Given the description of an element on the screen output the (x, y) to click on. 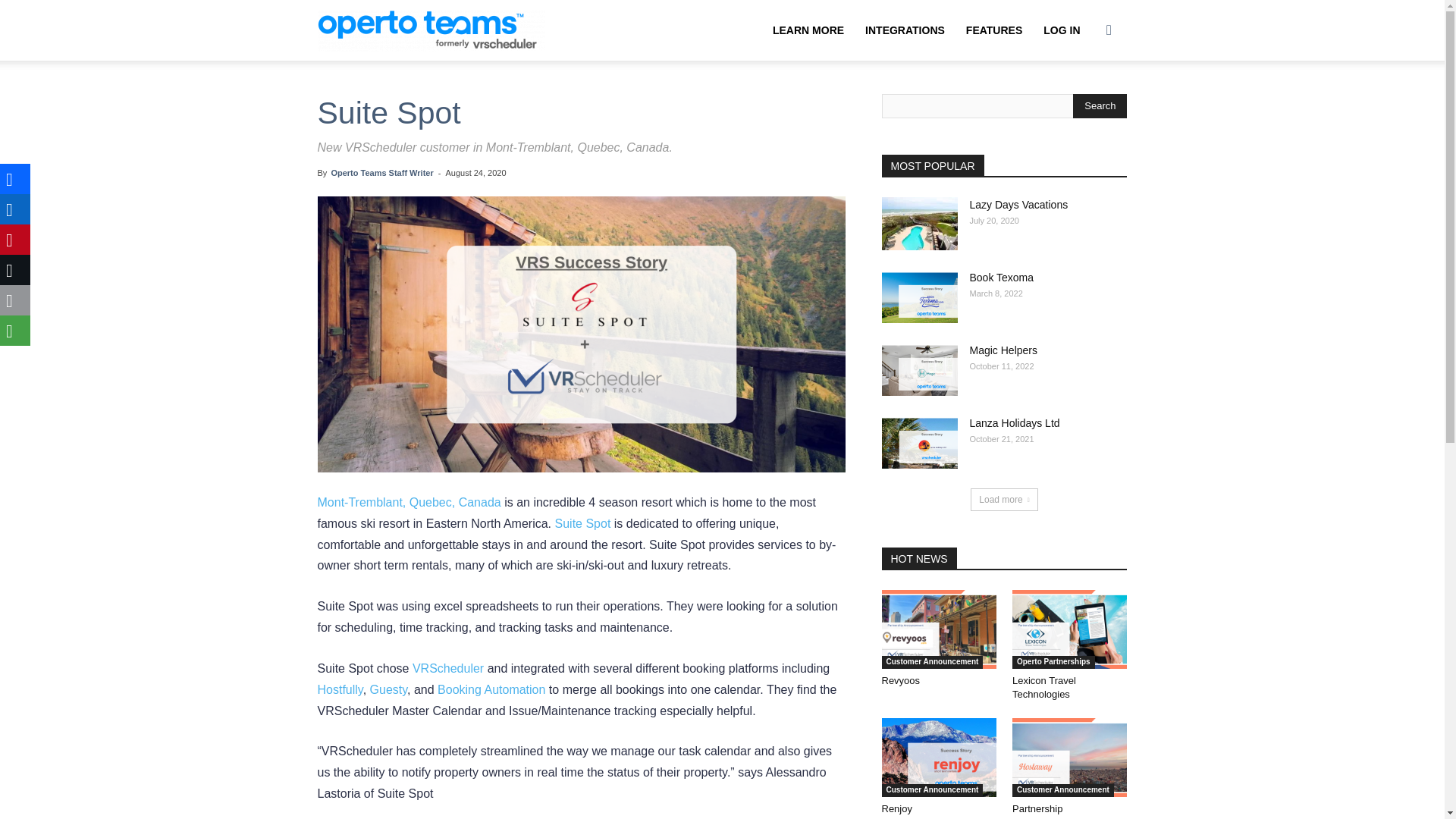
FEATURES (993, 30)
Guesty (388, 689)
LOG IN (1061, 30)
Search (1085, 102)
LEARN MORE (807, 30)
Booking Automation (491, 689)
Hostfully (339, 689)
Vacation Rental Articles from Operto Teams (438, 30)
Operto Teams Staff Writer (381, 172)
Search (1099, 105)
Suite Spot (582, 522)
INTEGRATIONS (904, 30)
Mont-Tremblant, Quebec, Canada (408, 502)
VRScheduler (447, 667)
